Given the description of an element on the screen output the (x, y) to click on. 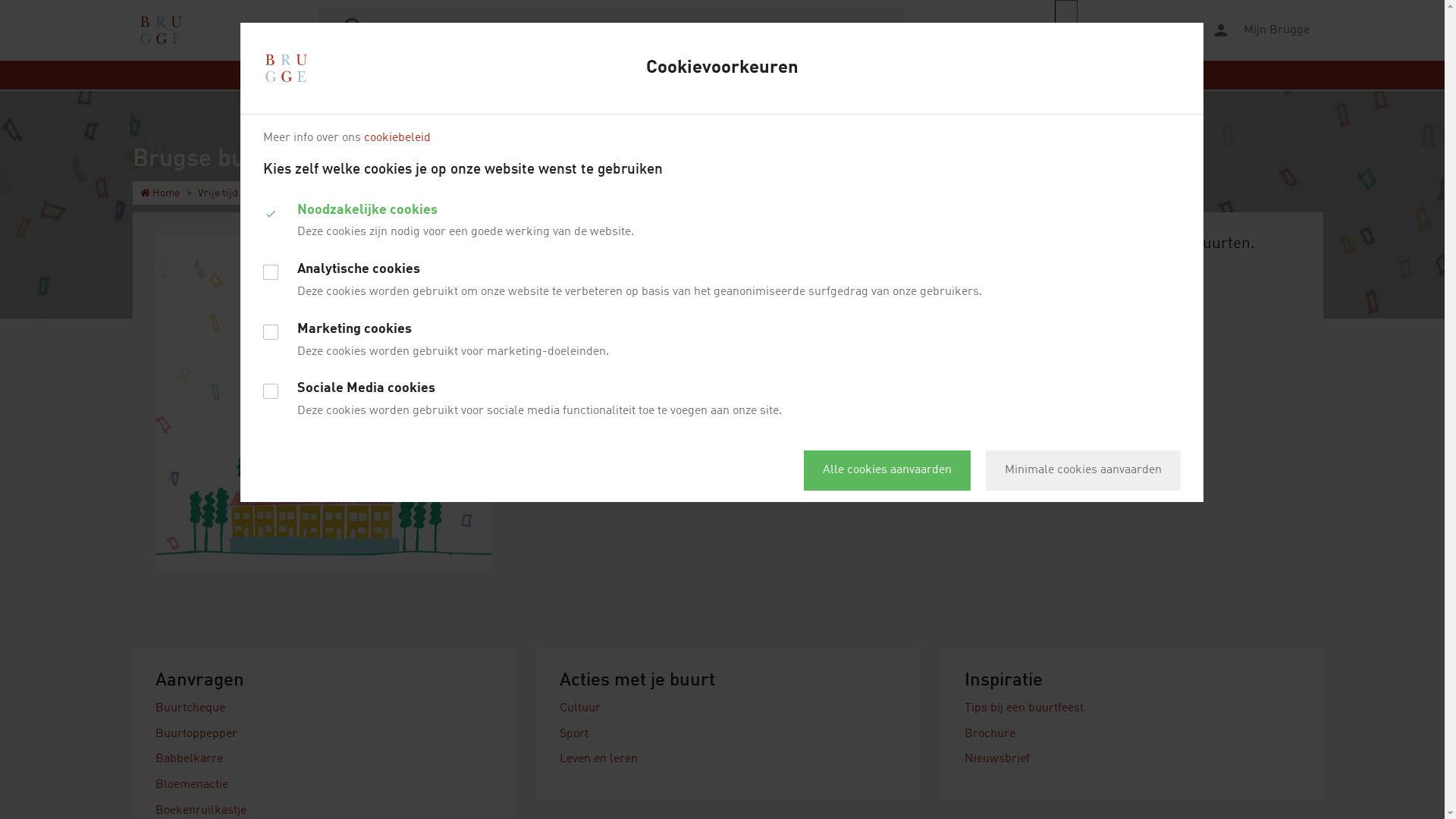
Cultuur Element type: text (579, 708)
webReader menu Element type: hover (1065, 30)
Buurtoppepper Element type: text (196, 734)
Nieuwsbrief Element type: text (996, 759)
LEVEN & MOBILITEIT Element type: text (475, 74)
WELZIJN & ZORG Element type: text (919, 74)
Bekijk de openingsuren Element type: text (1027, 304)
Bloemenactie Element type: text (191, 784)
Ga naar de startpagina Element type: hover (160, 30)
cookiebeleid Element type: text (397, 137)
Brochure Element type: text (989, 734)
Home Element type: text (159, 193)
Leven en leren Element type: text (598, 759)
Tips bij een buurtfeest Element type: text (1023, 708)
Lees voor Element type: text (1122, 30)
VRIJE TIJD Element type: text (697, 74)
Alle cookies aanvaarden Element type: text (886, 470)
050 44 82 22 Element type: text (996, 286)
Sport Element type: text (573, 734)
Minimale cookies aanvaarden Element type: text (1082, 470)
WERK & ONDERNEMEN Element type: text (800, 74)
Babbelkarre Element type: text (188, 759)
WONEN & OMGEVING Element type: text (598, 74)
Bekijk de brochure Element type: text (1029, 385)
brugsebuurten@brugge.be Element type: text (1109, 286)
Buurtcheque Element type: text (190, 708)
Vrije tijd Element type: text (217, 193)
BESTUUR Element type: text (1006, 74)
Volg ons op facebook Element type: hover (1038, 330)
Boekenruilkastje Element type: text (200, 810)
